Given the description of an element on the screen output the (x, y) to click on. 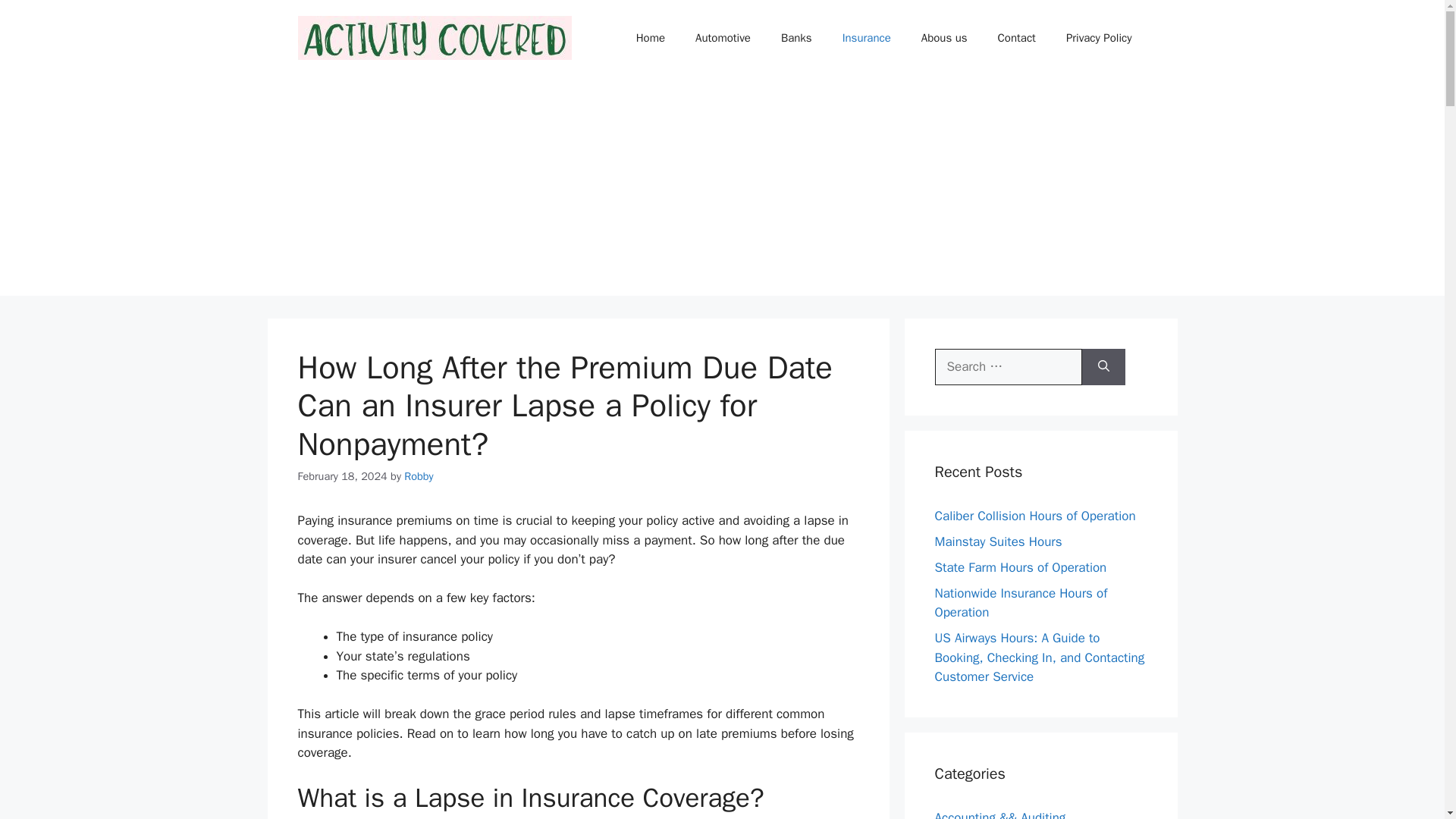
Caliber Collision Hours of Operation (1034, 515)
ACTIVITYCOVERED (433, 37)
State Farm Hours of Operation (1020, 567)
Robby (418, 476)
Mainstay Suites Hours (997, 541)
Insurance (866, 37)
Abous us (943, 37)
ACTIVITYCOVERED (433, 36)
Contact (1016, 37)
Nationwide Insurance Hours of Operation (1020, 602)
View all posts by Robby (418, 476)
Privacy Policy (1099, 37)
Banks (796, 37)
